Given the description of an element on the screen output the (x, y) to click on. 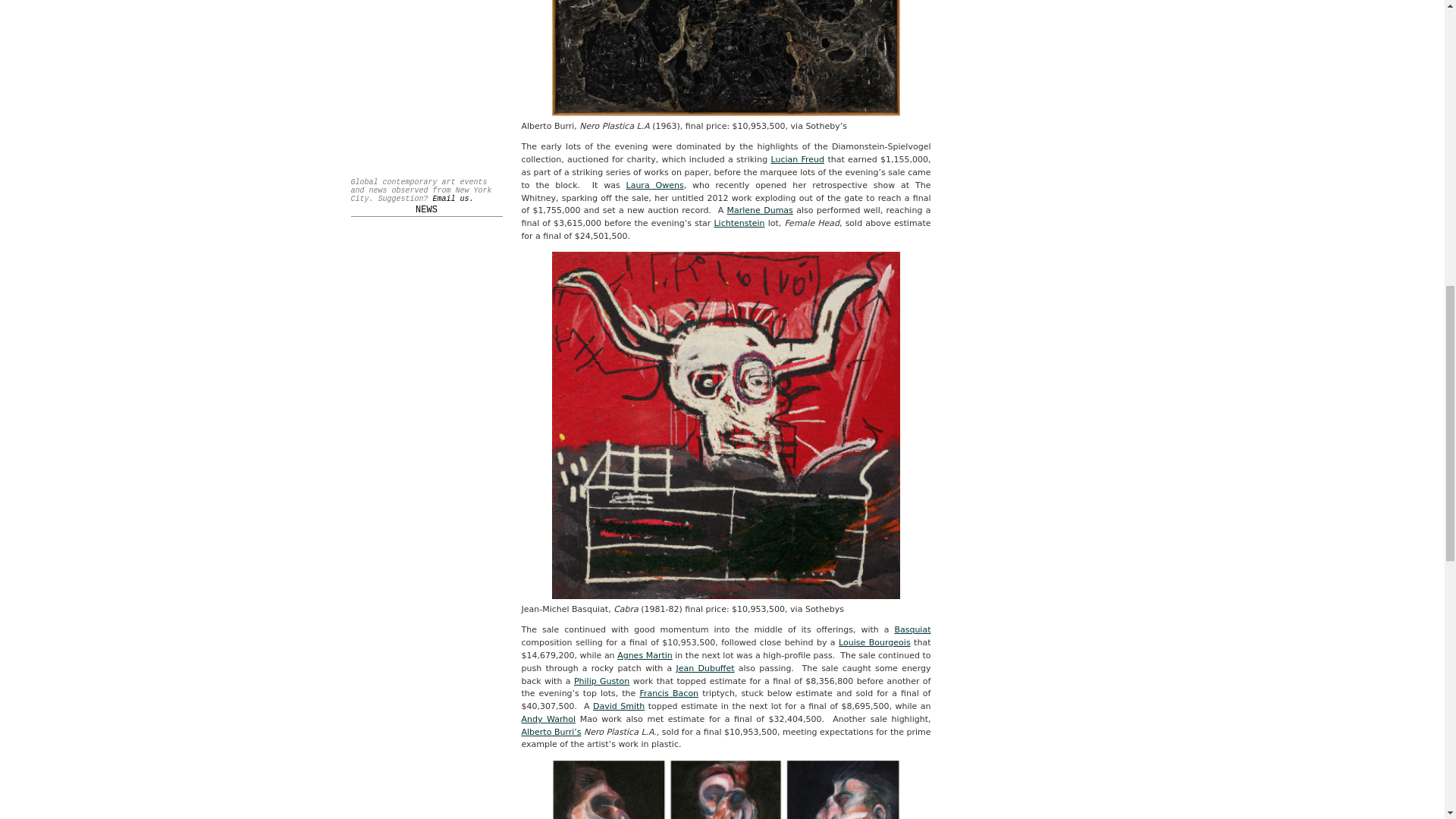
Laura Owens - Art Observed (655, 185)
Louise Bourgeois - Art Observed (874, 642)
Andy Warhol (548, 718)
Louise Bourgeois (874, 642)
Marlene Dumas (759, 210)
Laura Owens (655, 185)
Marlene Dumas - Art Observed (759, 210)
Francis Bacon (668, 693)
Jean-Michel Basquiat - Art Observed (911, 629)
Lichtenstein (738, 223)
David Smith (618, 706)
Philip Guston (600, 681)
Roy Lichtenstein - Art Observed (738, 223)
Lucian Freud - Art Observed (797, 159)
Lucian Freud (797, 159)
